Given the description of an element on the screen output the (x, y) to click on. 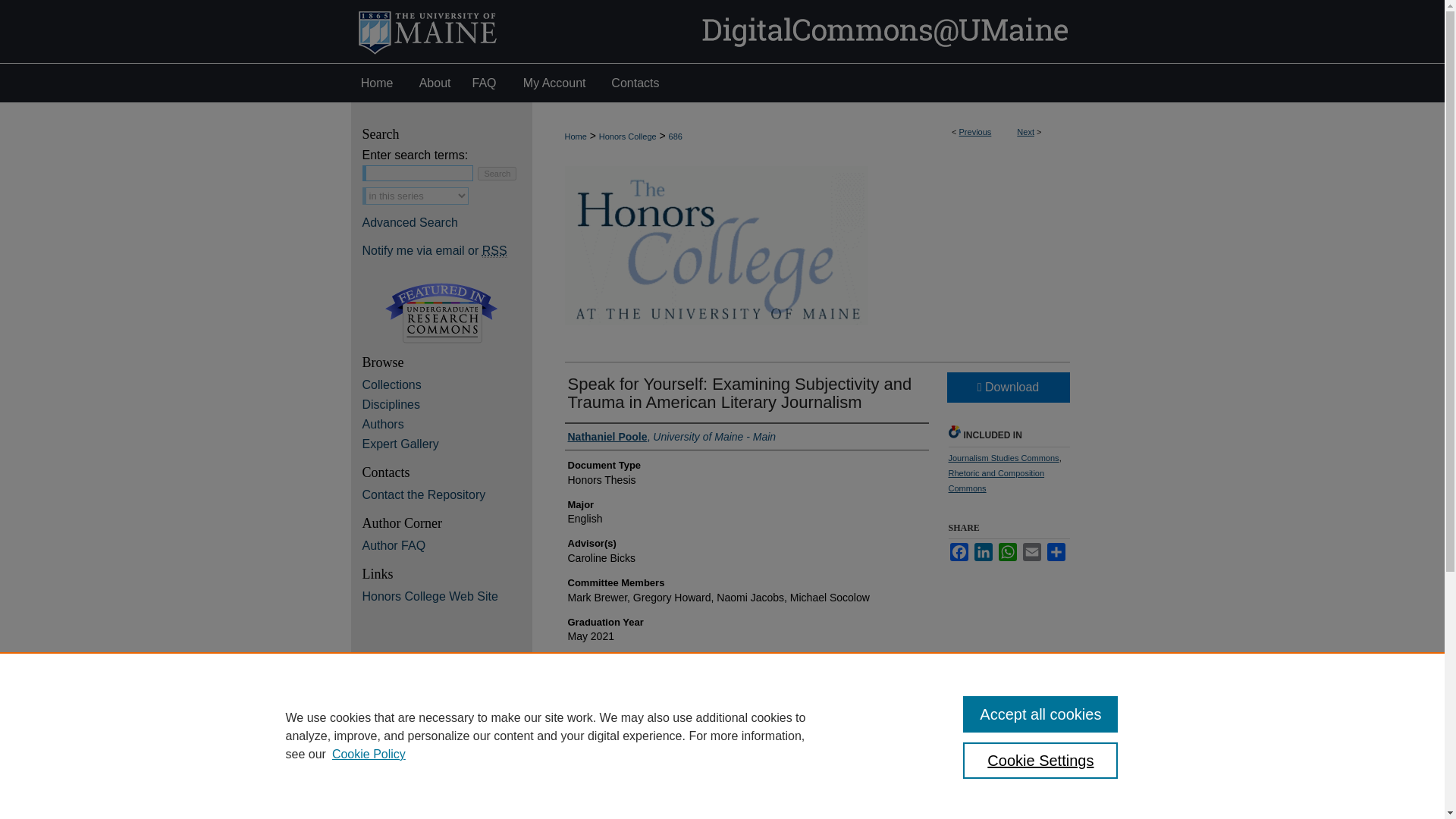
Email (1031, 551)
Collections (447, 385)
Home (378, 82)
Undergraduate Research Commons (440, 313)
Undergraduate Research Commons (440, 313)
About (435, 82)
Contacts (634, 82)
Authors (447, 424)
Rhetoric and Composition Commons (995, 480)
Journalism Studies Commons (1002, 457)
FAQ (483, 82)
Facebook (958, 551)
Search (496, 173)
Home (575, 135)
Contacts (634, 82)
